Given the description of an element on the screen output the (x, y) to click on. 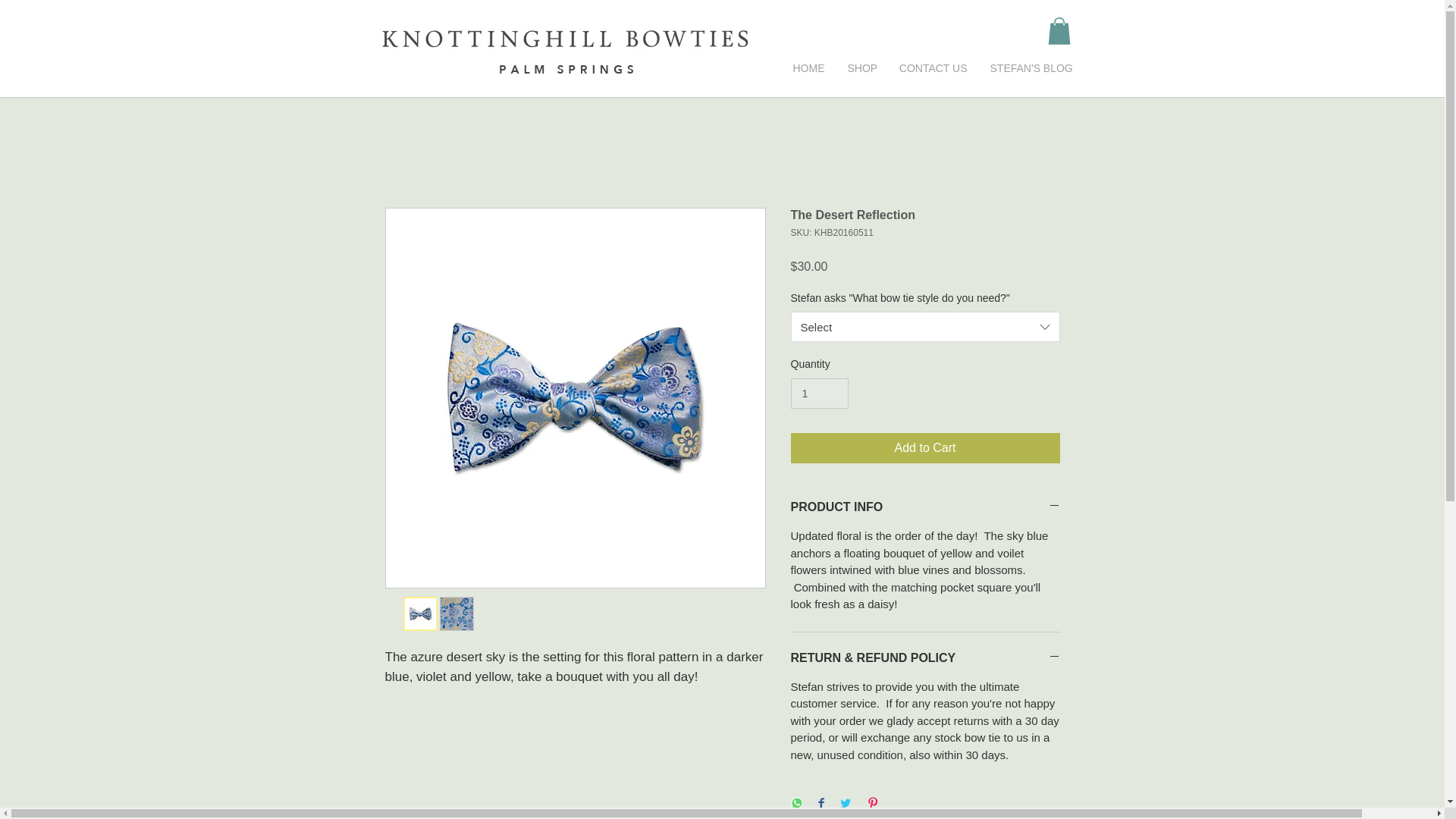
HOME (807, 68)
STEFAN'S BLOG (1028, 68)
Add to Cart (924, 448)
Select (924, 327)
1 (818, 393)
CONTACT US (932, 68)
PRODUCT INFO (924, 507)
SHOP (860, 68)
